Given the description of an element on the screen output the (x, y) to click on. 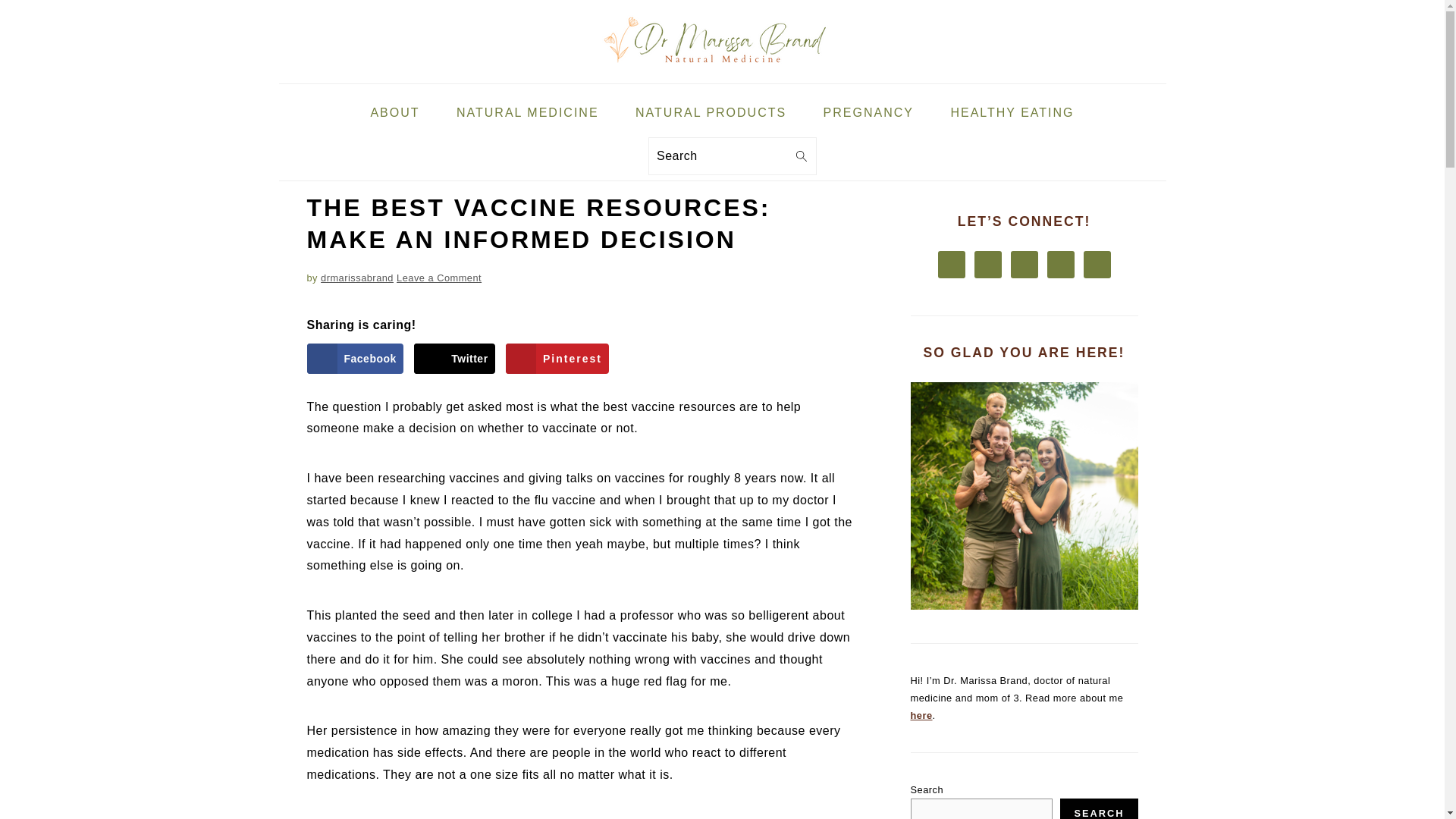
Share on X (454, 358)
Facebook (354, 358)
Share on Facebook (354, 358)
ABOUT (394, 113)
Twitter (454, 358)
NATURAL MEDICINE (527, 113)
PREGNANCY (869, 113)
drmarissabrand (356, 277)
